Given the description of an element on the screen output the (x, y) to click on. 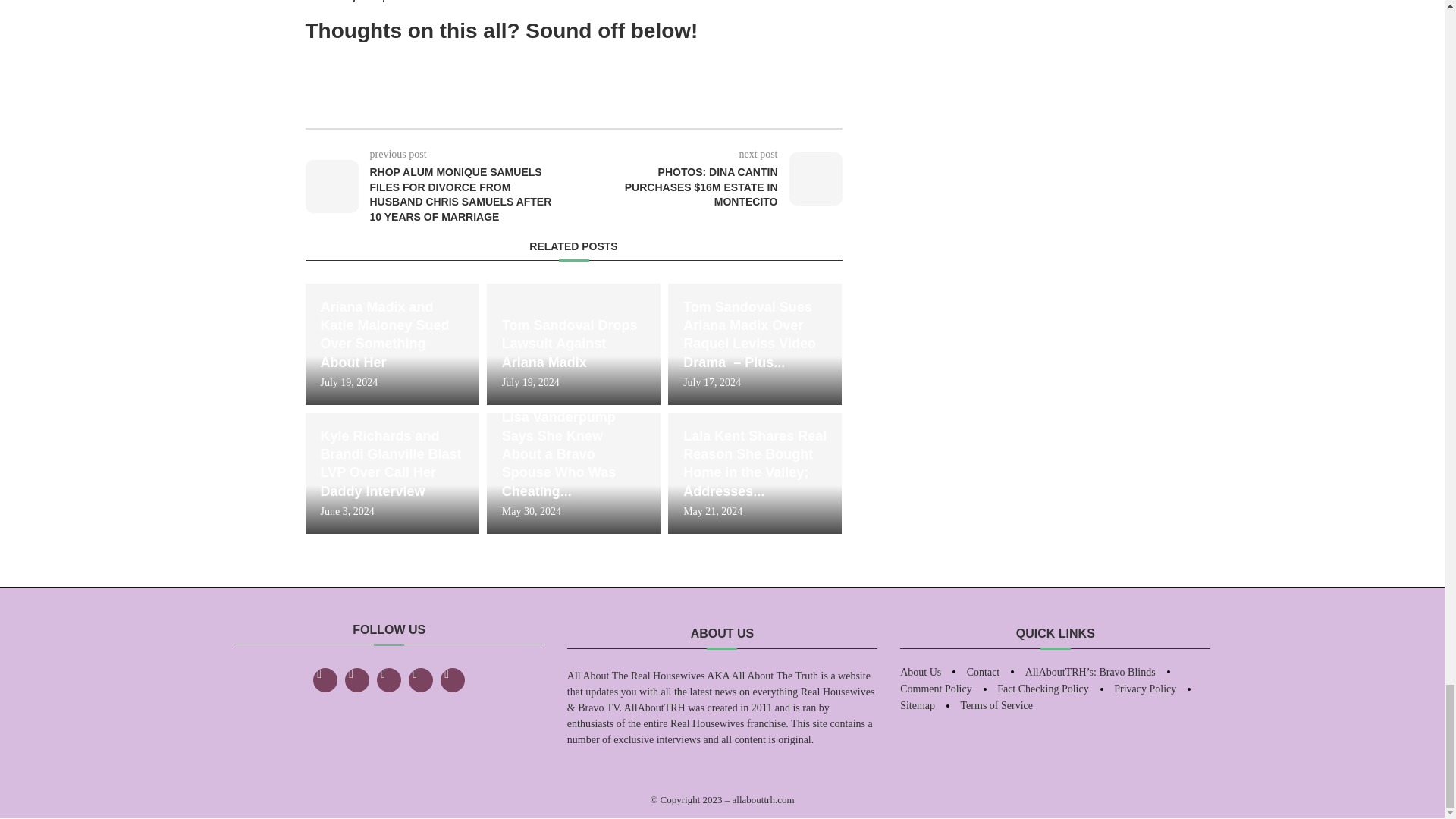
Tom Sandoval Drops Lawsuit Against Ariana Madix (573, 343)
Tom Sandoval Drops Lawsuit Against Ariana Madix (573, 343)
Tom Sandoval Drops Lawsuit Against Ariana Madix (573, 352)
Ariana Madix and Katie Maloney Sued Over Something About Her (391, 334)
Ariana Madix and Katie Maloney Sued Over Something About Her (391, 343)
Ariana Madix and Katie Maloney Sued Over Something About Her (391, 343)
